Given the description of an element on the screen output the (x, y) to click on. 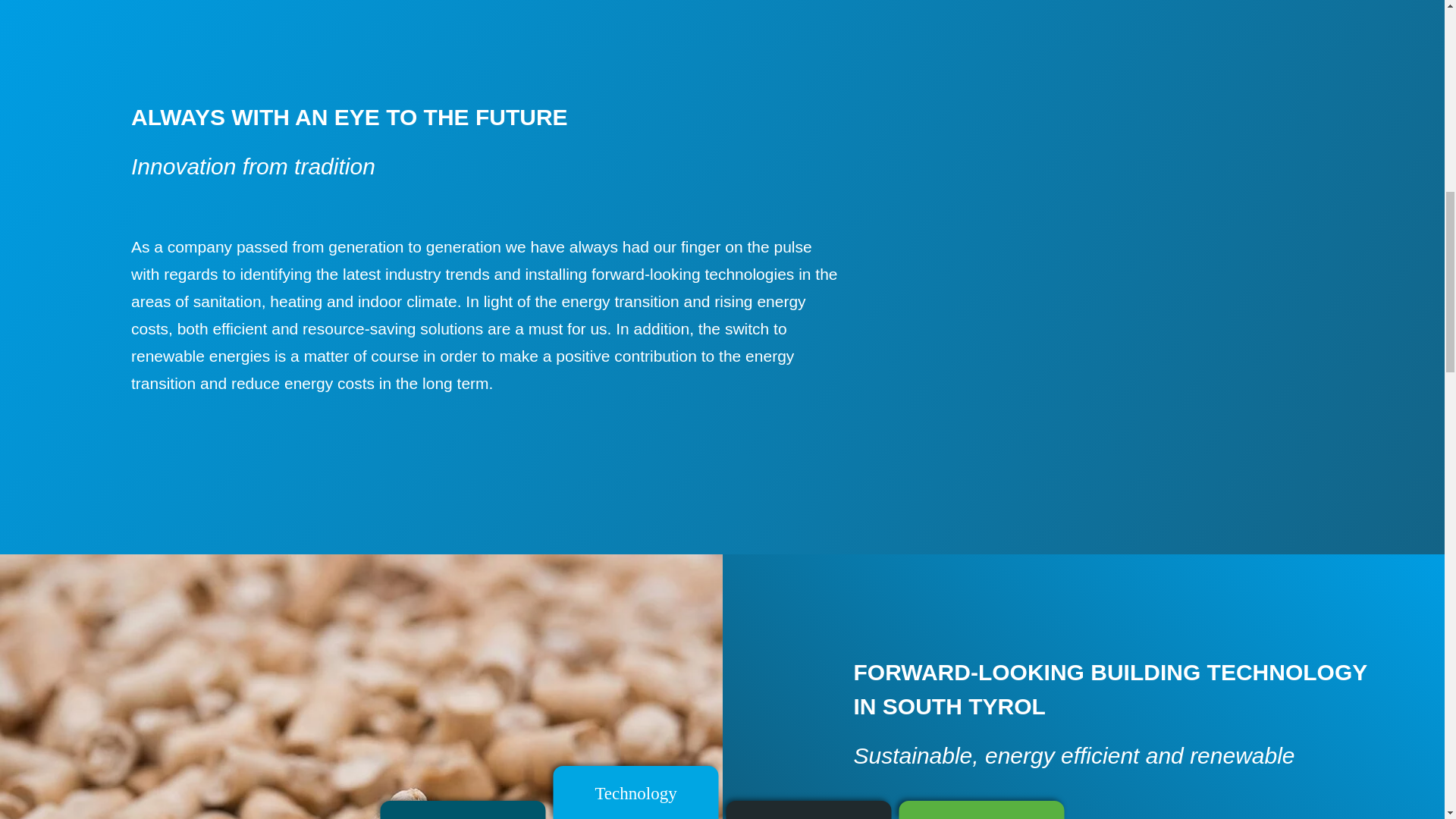
sanitation (227, 301)
Indoor climate (407, 301)
indoor climate (407, 301)
heating (295, 301)
Heating (295, 301)
Sanitation (227, 301)
